Given the description of an element on the screen output the (x, y) to click on. 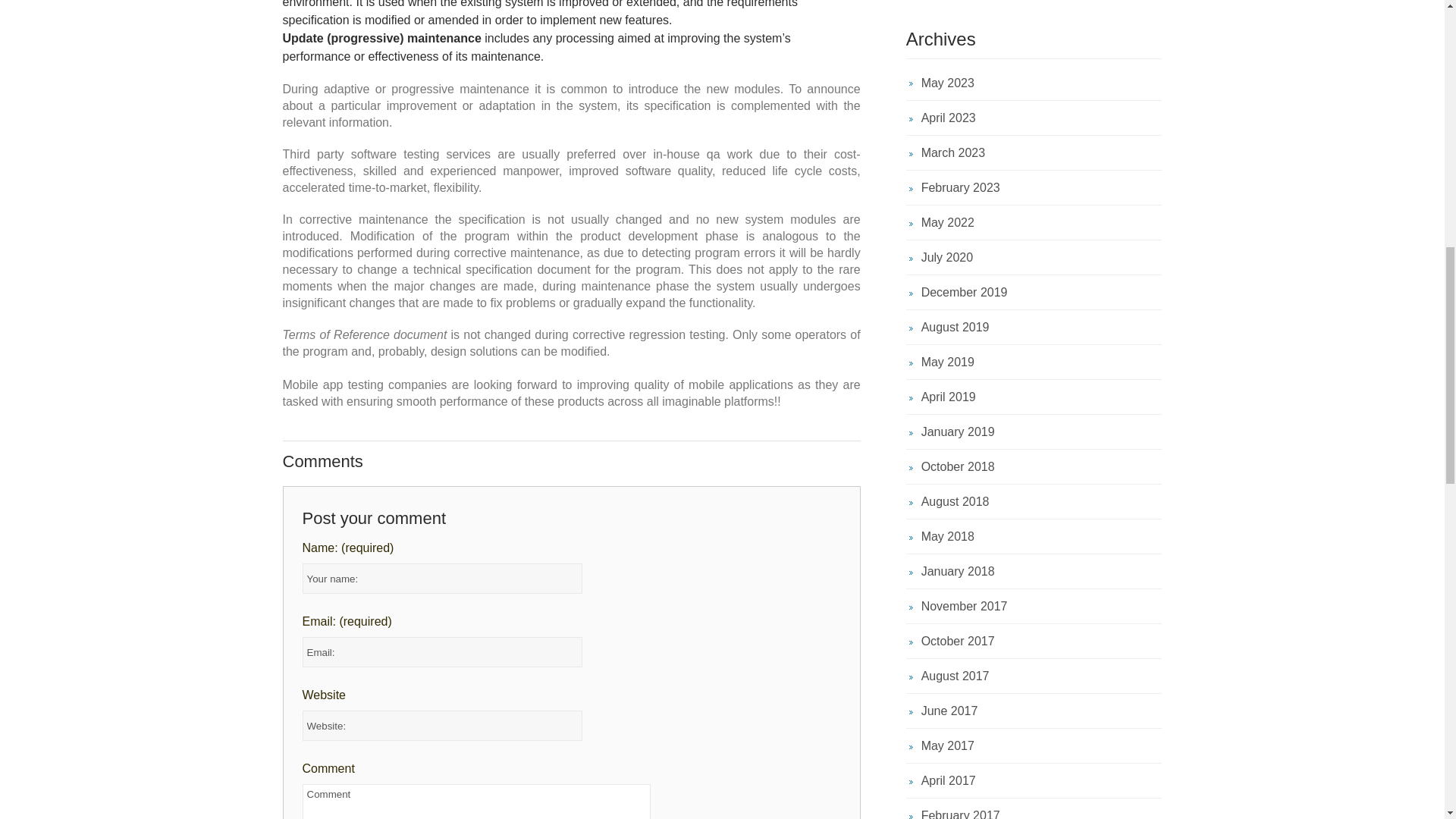
May 2023 (1033, 86)
August 2019 (1033, 326)
February 2023 (1033, 187)
March 2023 (1033, 152)
July 2020 (1033, 257)
December 2019 (1033, 292)
May 2022 (1033, 222)
April 2023 (1033, 117)
